Given the description of an element on the screen output the (x, y) to click on. 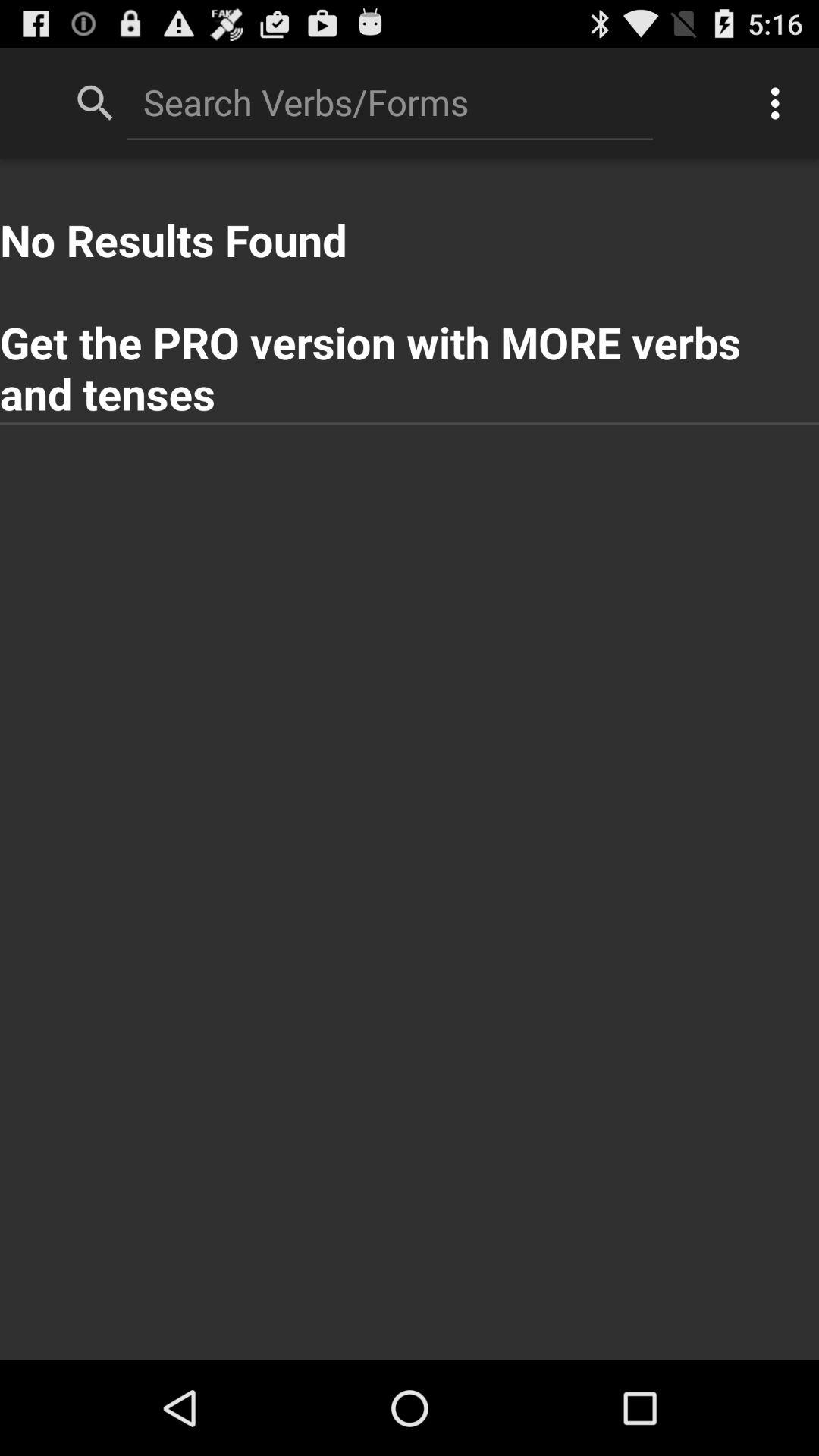
swipe until no results found item (409, 290)
